Given the description of an element on the screen output the (x, y) to click on. 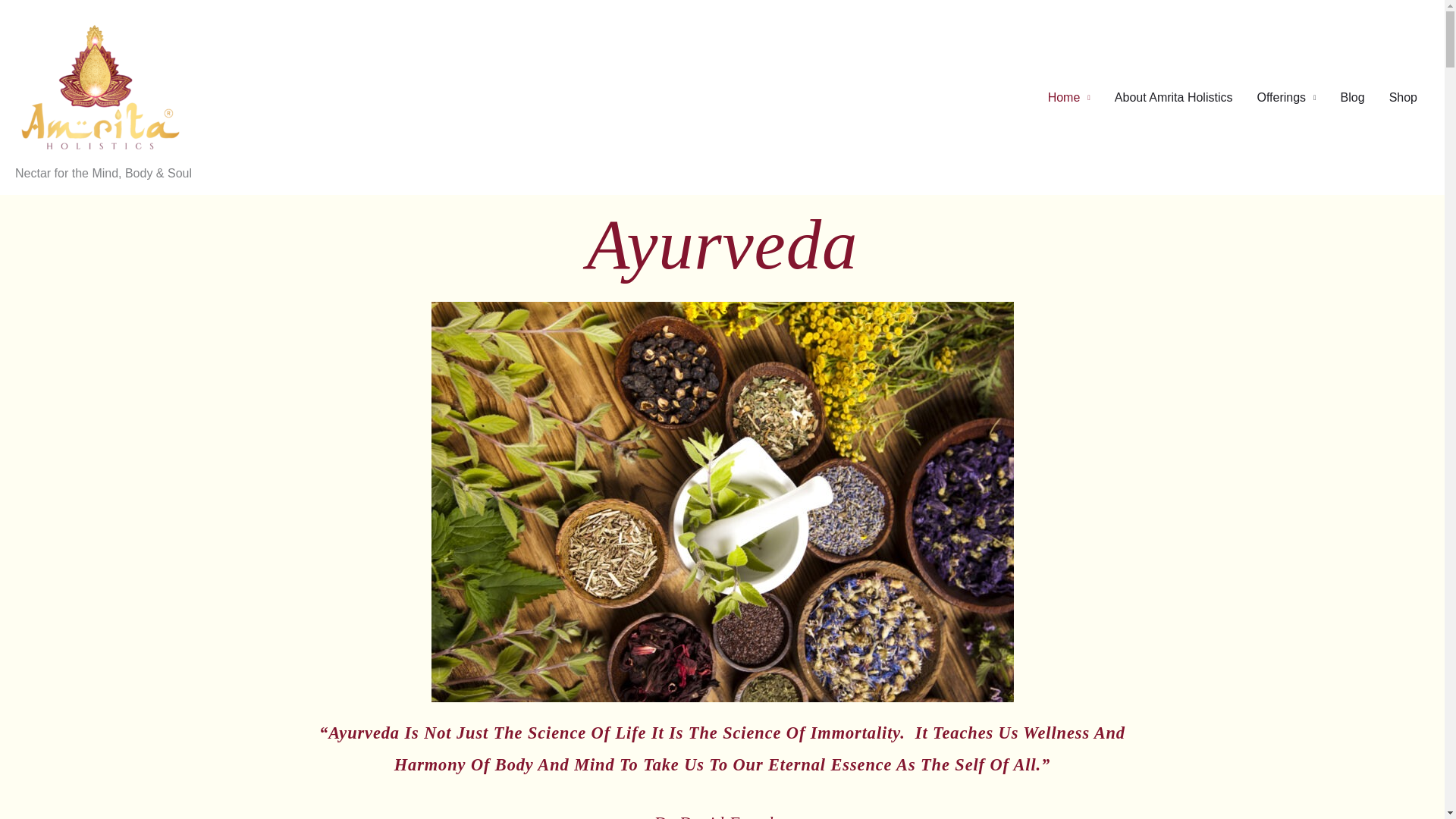
Home (1068, 96)
Blog (1352, 96)
Shop (1403, 96)
About Amrita Holistics (1173, 96)
Offerings (1285, 96)
